Given the description of an element on the screen output the (x, y) to click on. 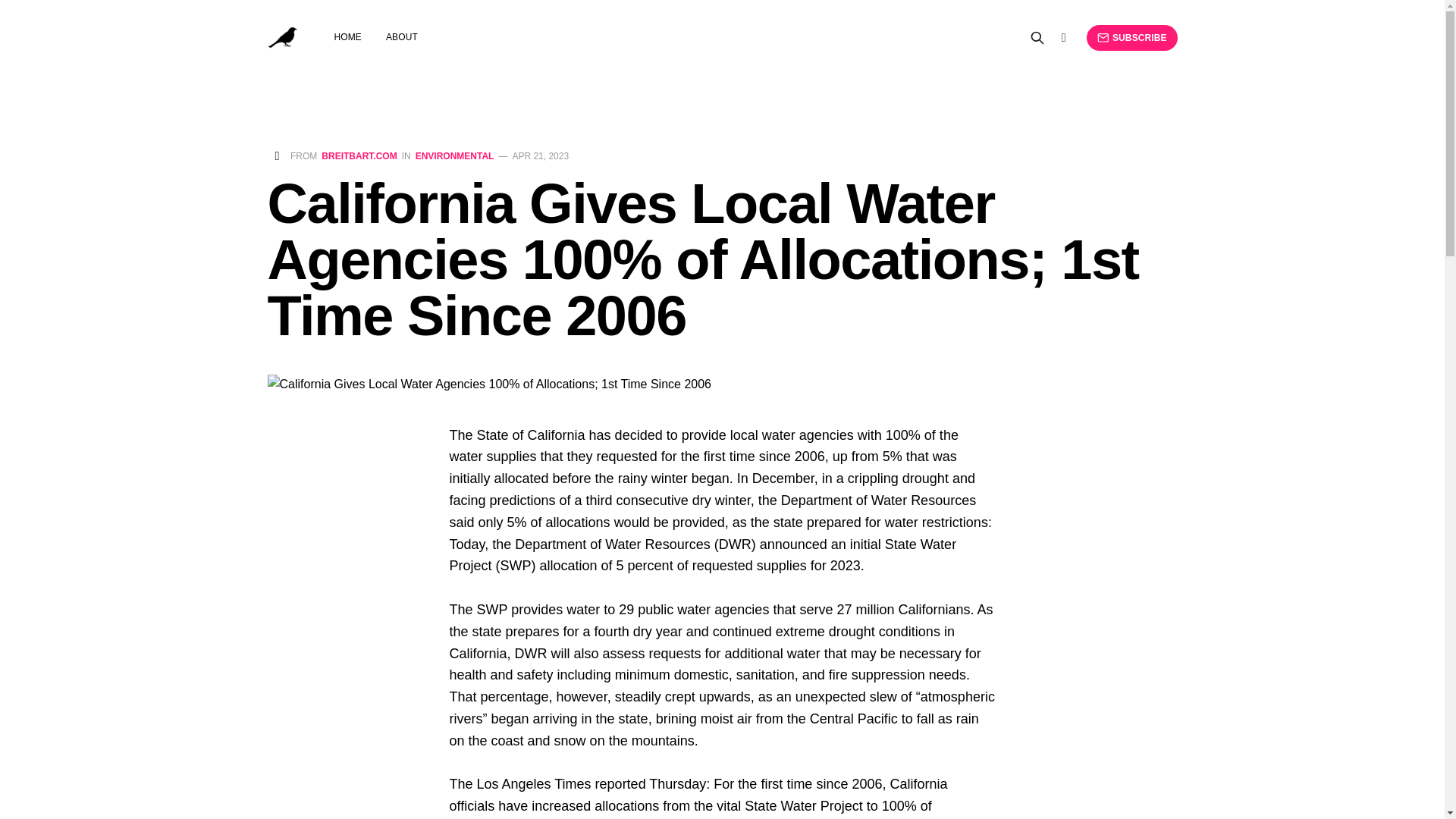
SUBSCRIBE (1131, 37)
ENVIRONMENTAL (454, 155)
BREITBART.COM (358, 155)
HOME (347, 36)
ABOUT (401, 36)
